Given the description of an element on the screen output the (x, y) to click on. 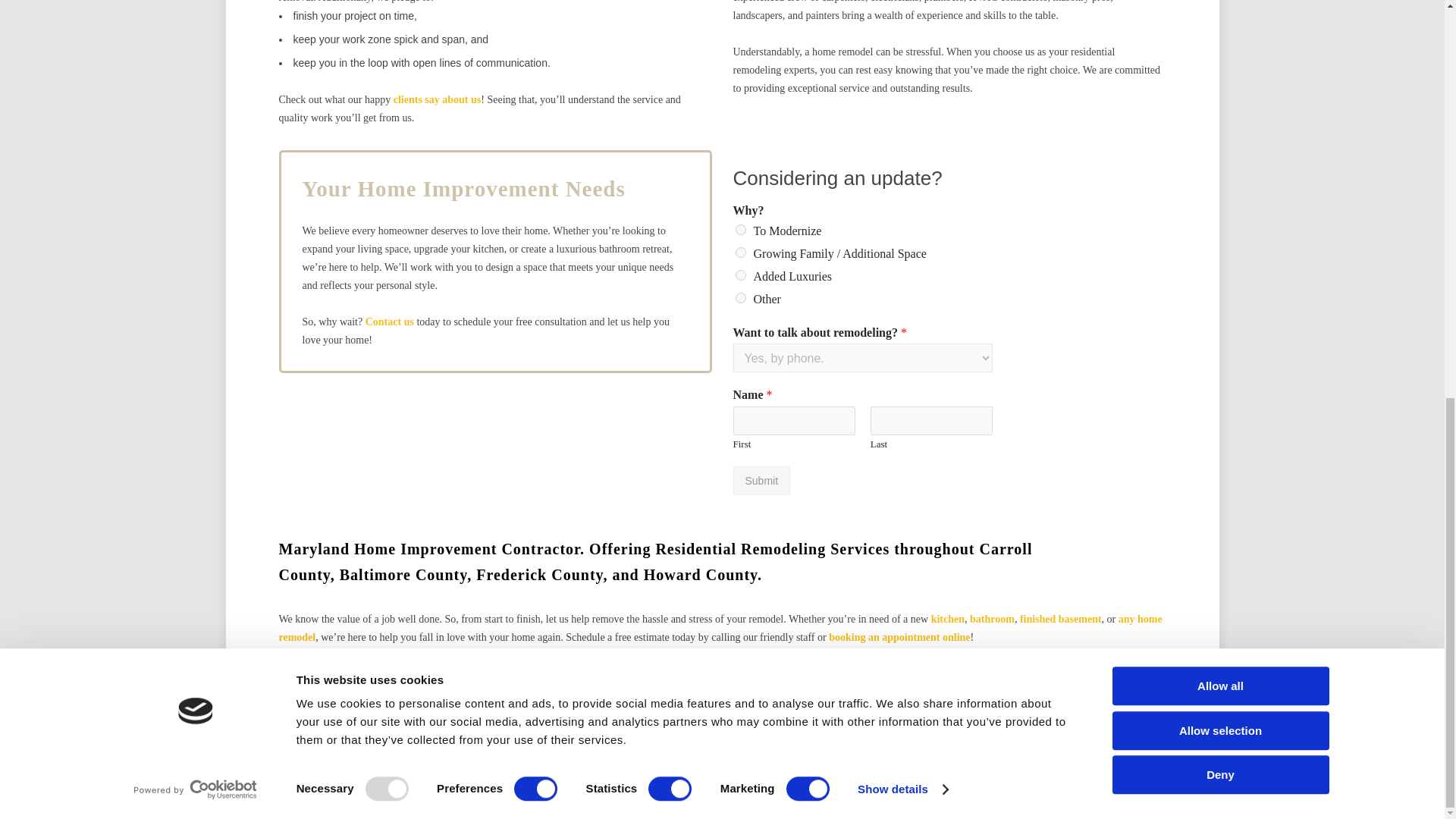
Verified by MonsterInsights (722, 801)
Deny (1219, 10)
Show details (902, 15)
Added Luxuries (740, 275)
To Modernize  (740, 229)
Other (740, 297)
